Given the description of an element on the screen output the (x, y) to click on. 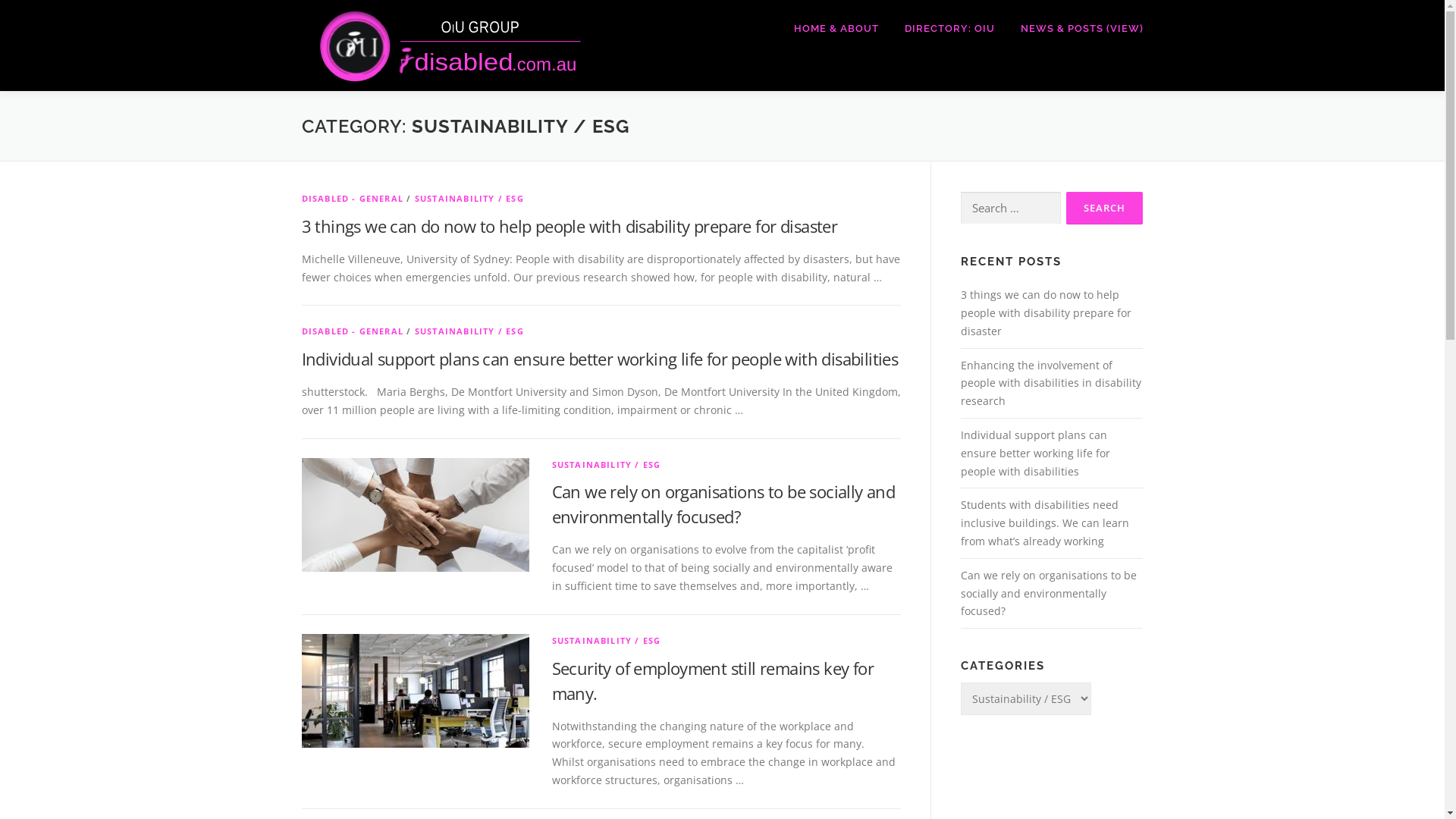
SUSTAINABILITY / ESG Element type: text (469, 197)
SUSTAINABILITY / ESG Element type: text (469, 330)
Security of employment still remains key for many. Element type: text (713, 680)
SUSTAINABILITY / ESG Element type: text (606, 640)
DISABLED - GENERAL Element type: text (352, 197)
Search Element type: text (1104, 207)
HOME & ABOUT Element type: text (836, 28)
DISABLED - GENERAL Element type: text (352, 330)
NEWS & POSTS (VIEW) Element type: text (1074, 28)
DIRECTORY: OIU Element type: text (949, 28)
SUSTAINABILITY / ESG Element type: text (606, 464)
